Given the description of an element on the screen output the (x, y) to click on. 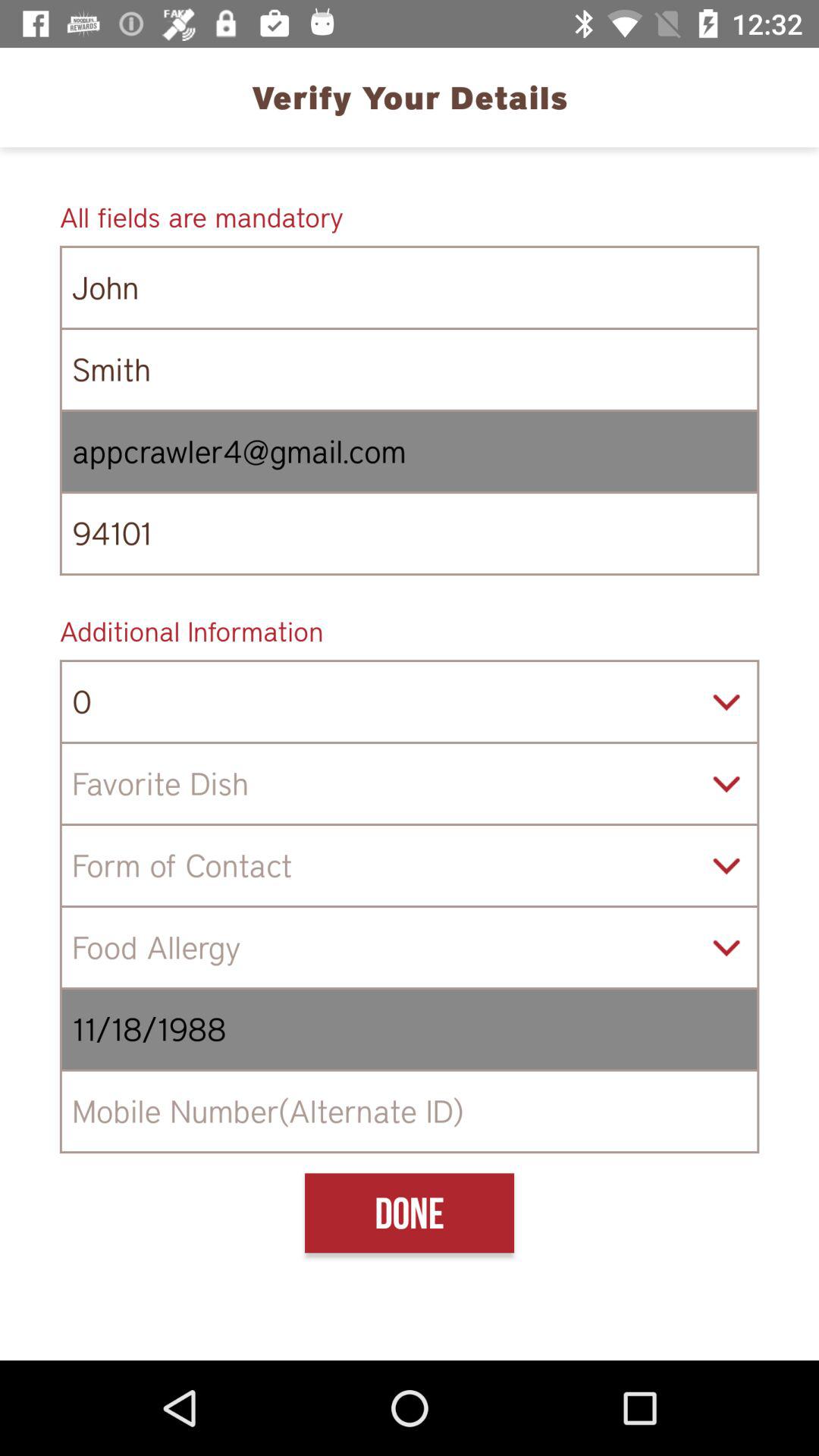
select favorite dish (409, 783)
